Given the description of an element on the screen output the (x, y) to click on. 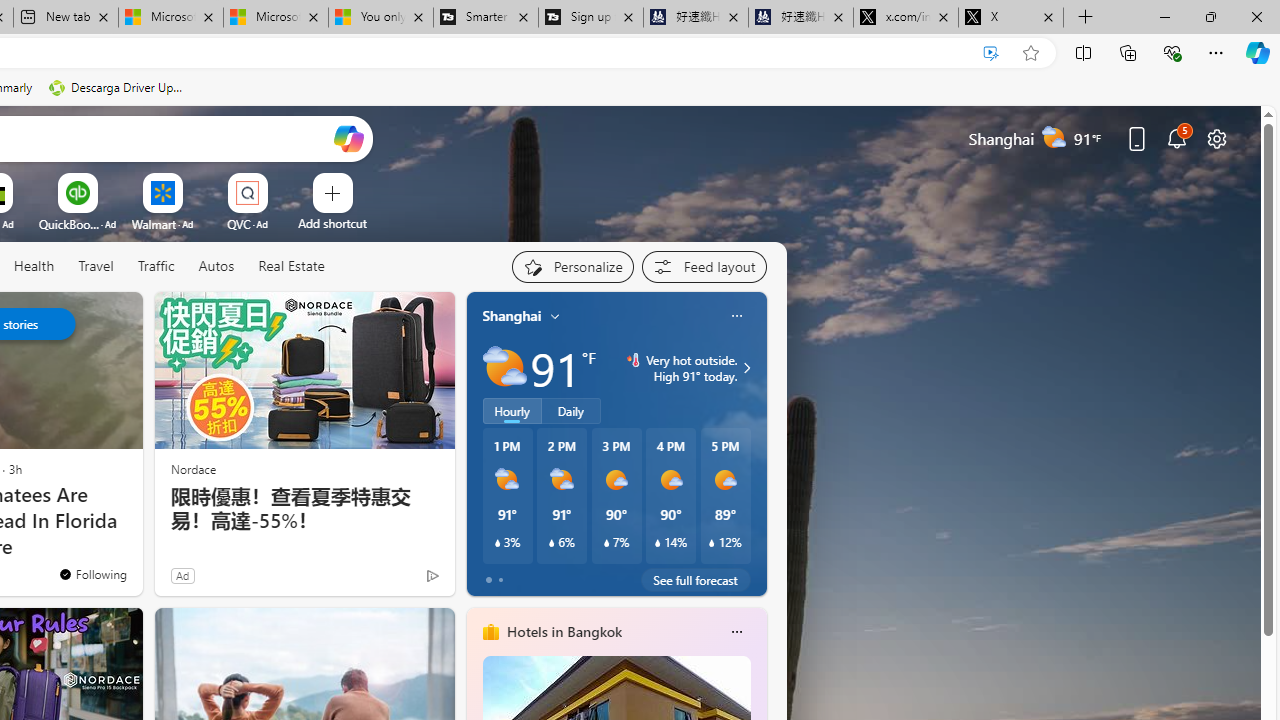
Autos (216, 267)
Traffic (155, 267)
Real Estate (290, 267)
Add a site (332, 223)
